Given the description of an element on the screen output the (x, y) to click on. 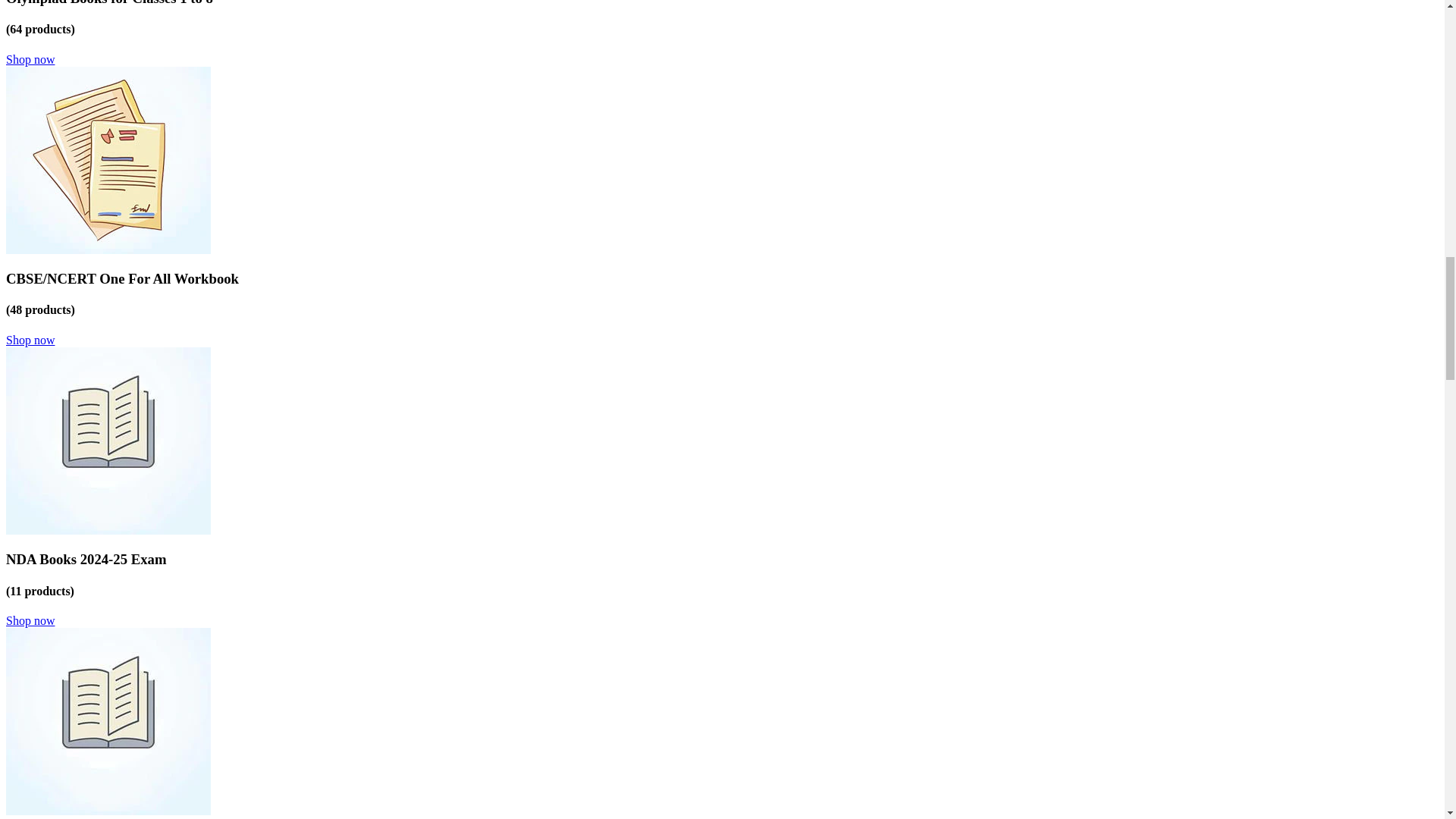
Shop now (30, 620)
Shop now (30, 339)
Shop now (30, 59)
